Given the description of an element on the screen output the (x, y) to click on. 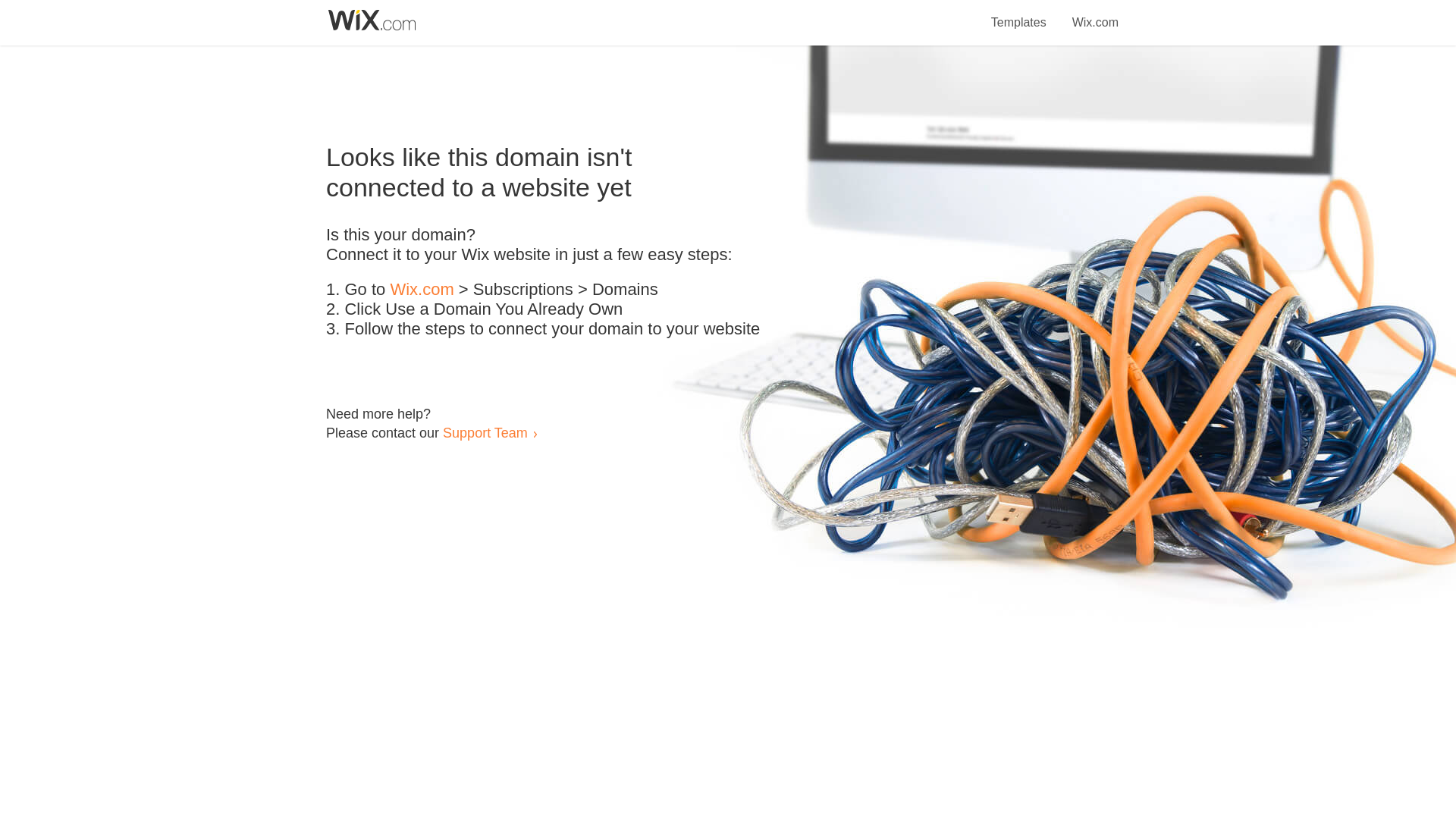
Support Team (484, 432)
Wix.com (421, 289)
Wix.com (1095, 14)
Templates (1018, 14)
